Given the description of an element on the screen output the (x, y) to click on. 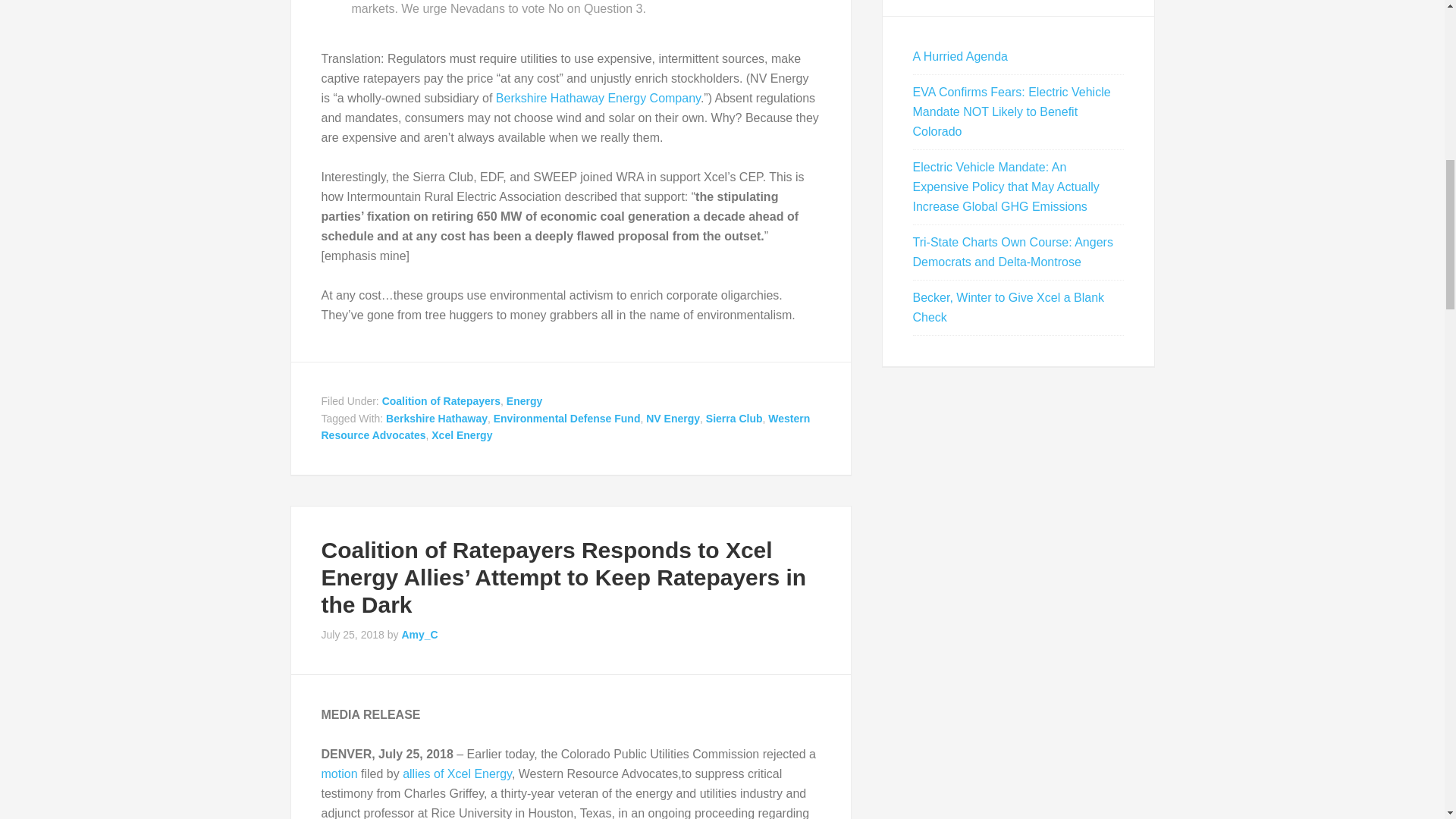
Sierra Club (734, 418)
Berkshire Hathaway Energy Company (598, 97)
motion (339, 773)
Xcel Energy (461, 435)
Energy (523, 400)
NV Energy (673, 418)
Coalition of Ratepayers (440, 400)
Berkshire Hathaway (436, 418)
Western Resource Advocates (565, 427)
Environmental Defense Fund (566, 418)
allies of Xcel Energy (457, 773)
